Given the description of an element on the screen output the (x, y) to click on. 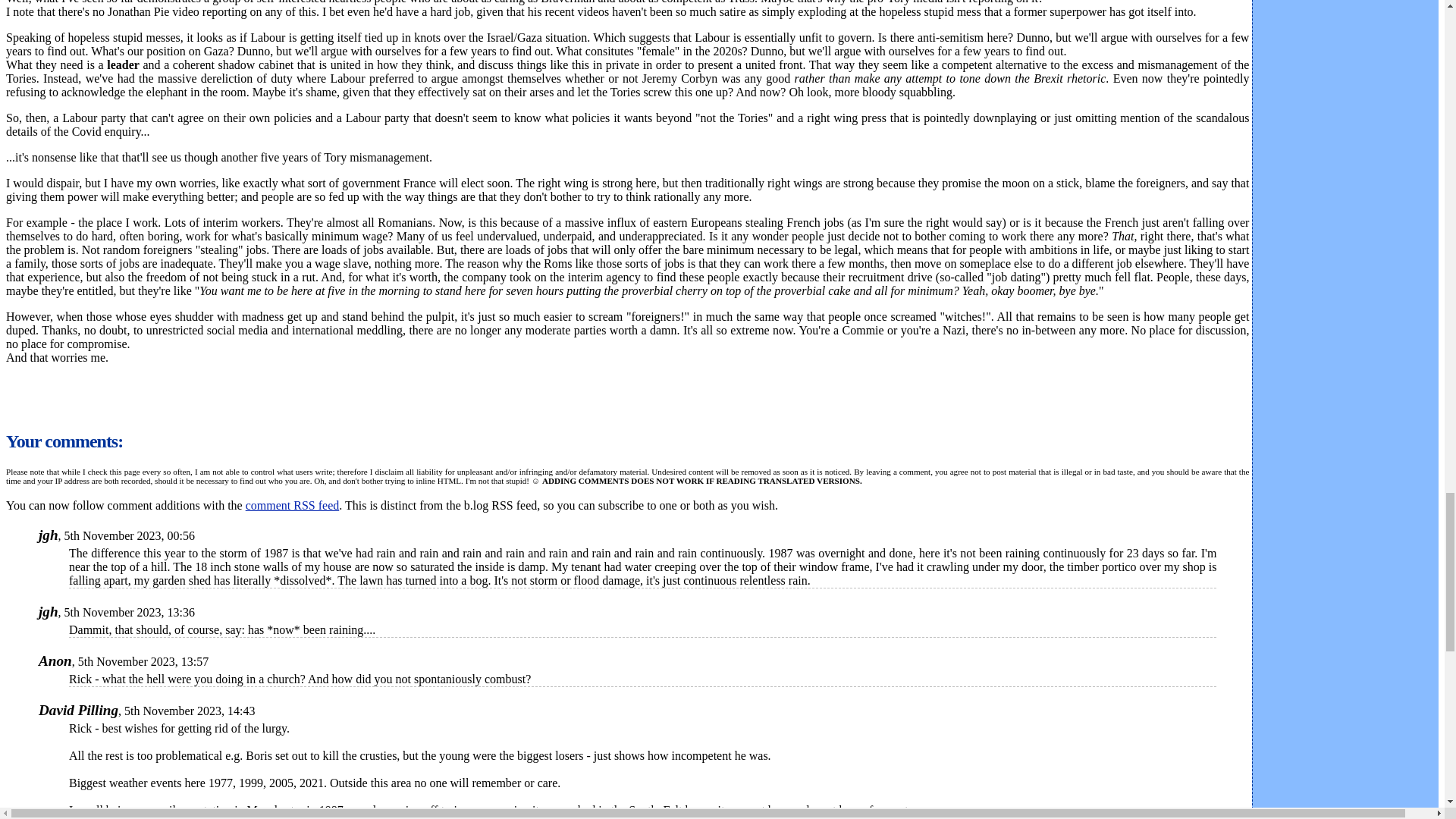
comment RSS feed (292, 504)
